Given the description of an element on the screen output the (x, y) to click on. 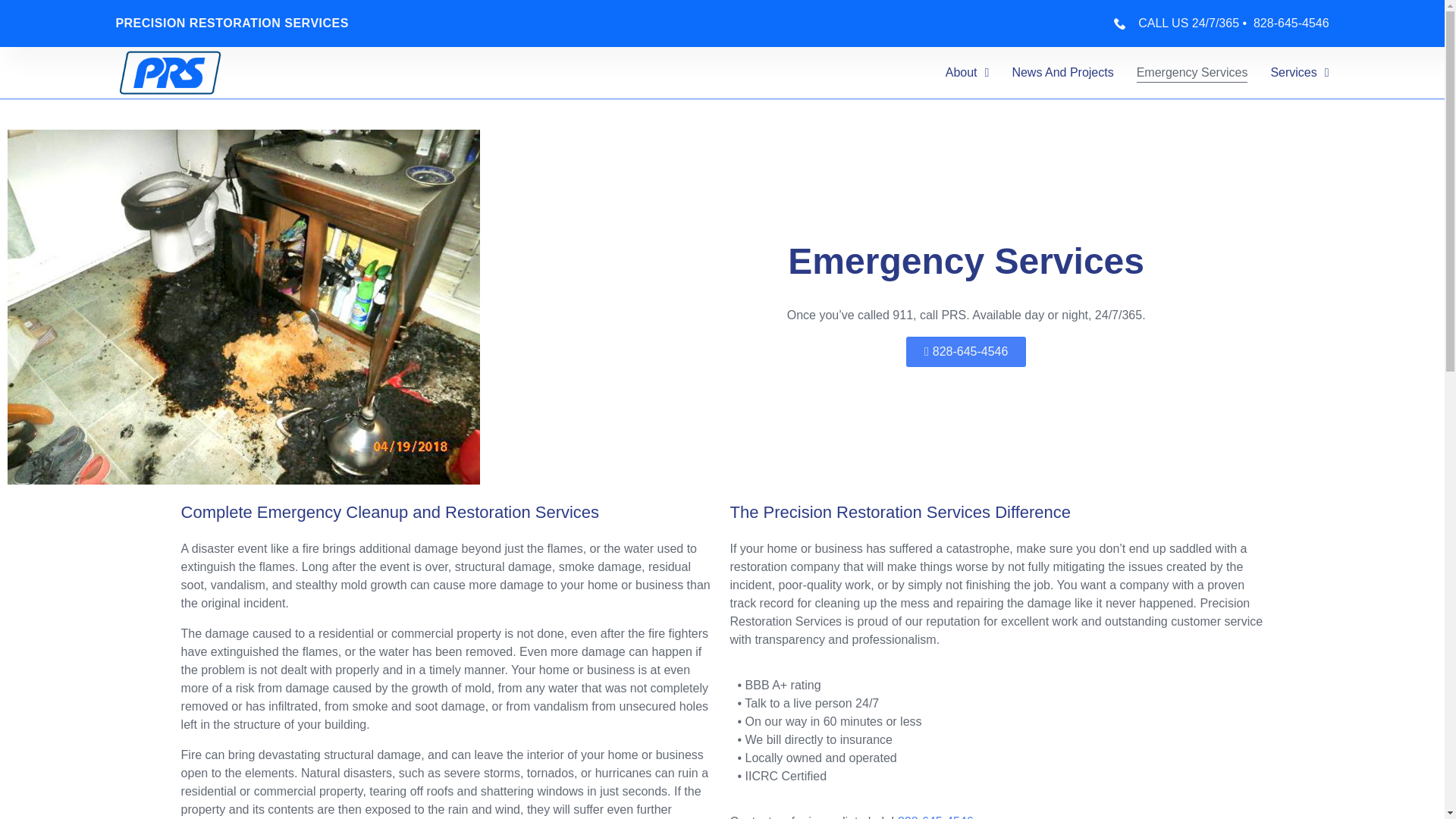
Services (1298, 72)
Square-Badge.jpg (170, 72)
Emergency Services (1192, 72)
828-645-4546 (965, 351)
828-645-4546 (936, 816)
About (967, 72)
News And Projects (1062, 72)
